Given the description of an element on the screen output the (x, y) to click on. 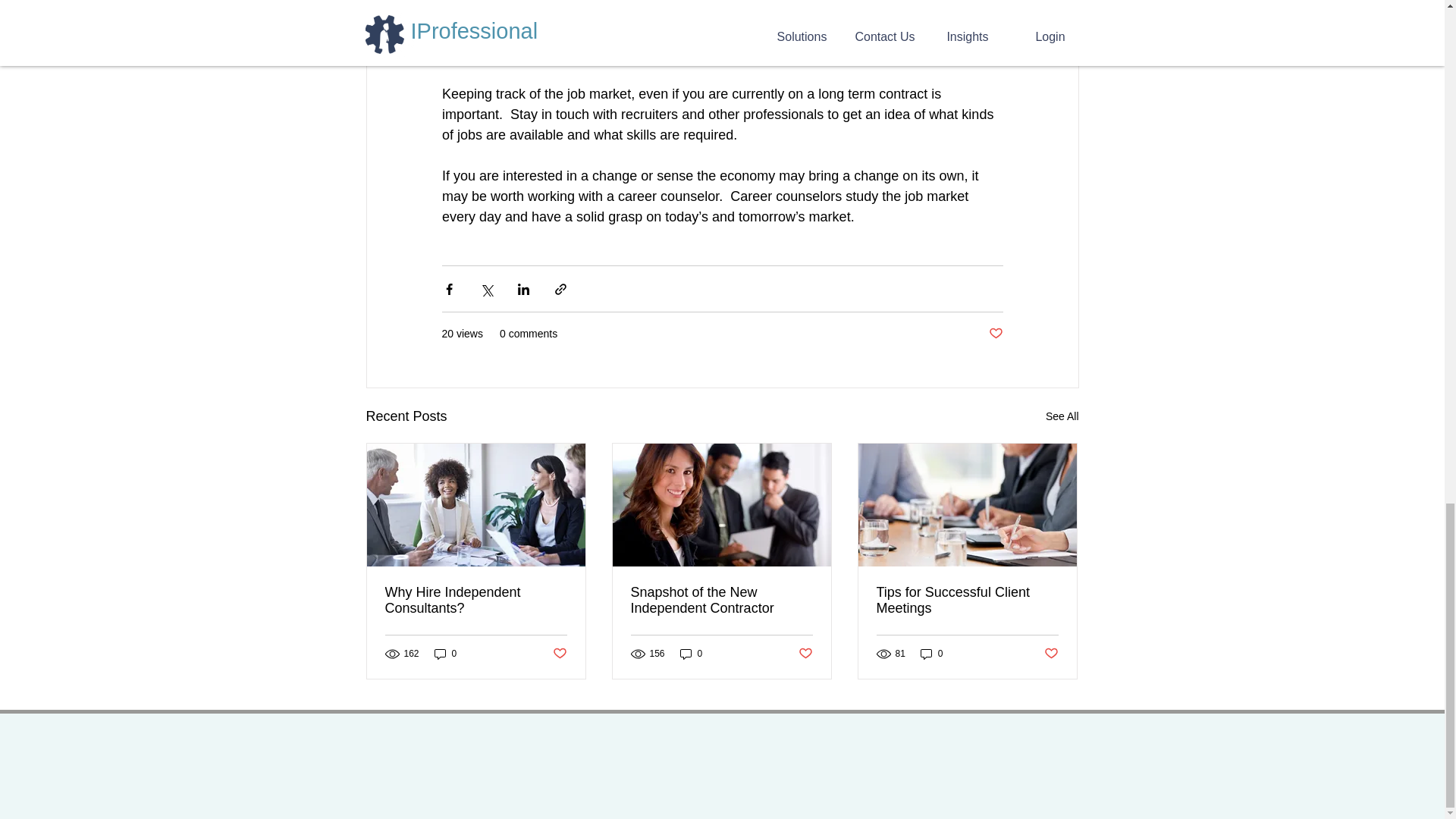
0 (691, 653)
Snapshot of the New Independent Contractor (721, 600)
Post not marked as liked (804, 652)
Tips for Successful Client Meetings (967, 600)
Why Hire Independent Consultants? (476, 600)
0 (931, 653)
Post not marked as liked (558, 652)
See All (1061, 416)
0 (445, 653)
Post not marked as liked (1050, 652)
